Given the description of an element on the screen output the (x, y) to click on. 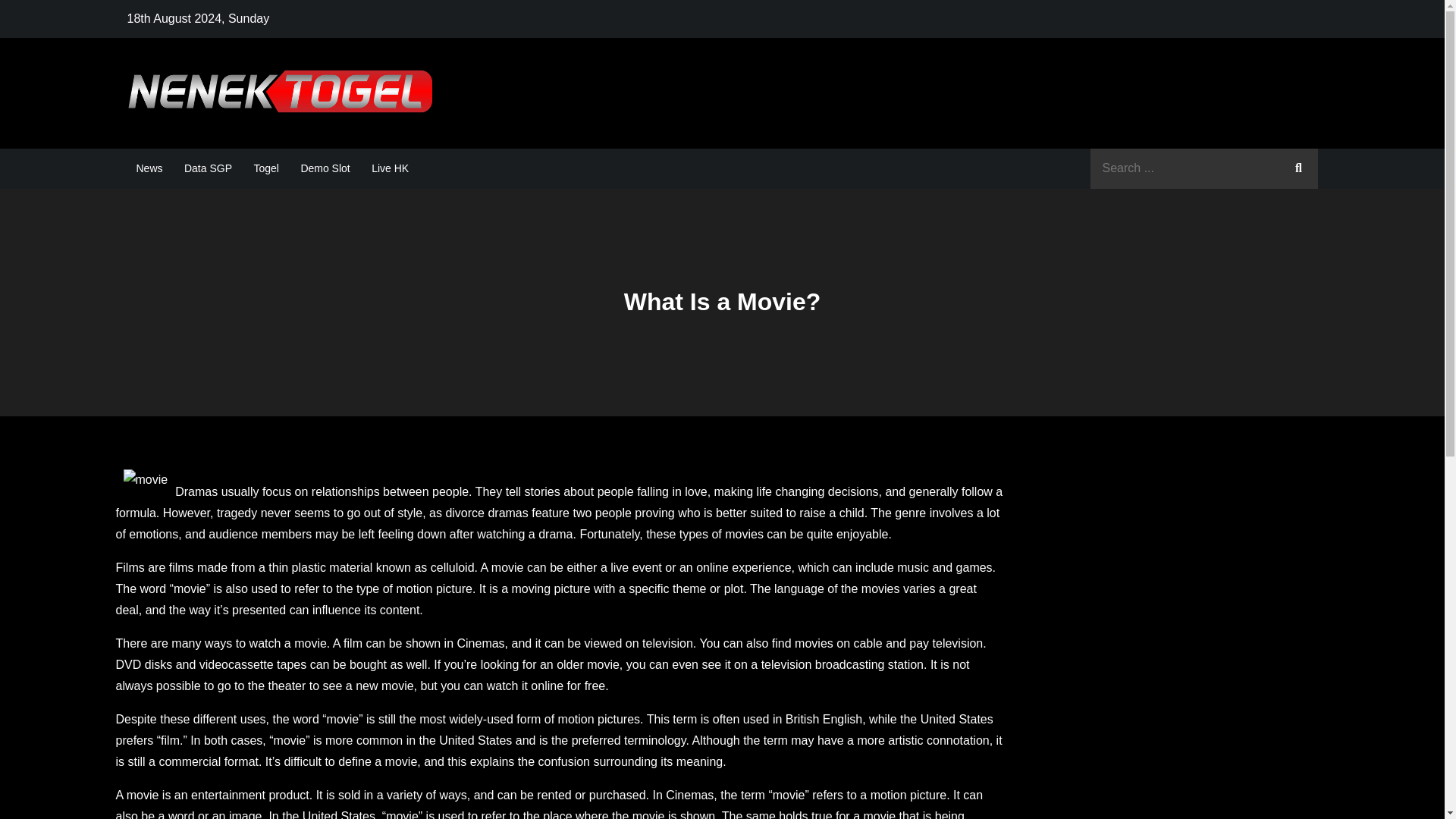
Data SGP (207, 168)
Search for: (1203, 168)
Live HK (389, 168)
Pragmatic, Pragmatic Play, Agen Slot Pragmatic 2021 (758, 108)
News (149, 168)
Togel (265, 168)
Search (1298, 168)
Demo Slot (324, 168)
